Given the description of an element on the screen output the (x, y) to click on. 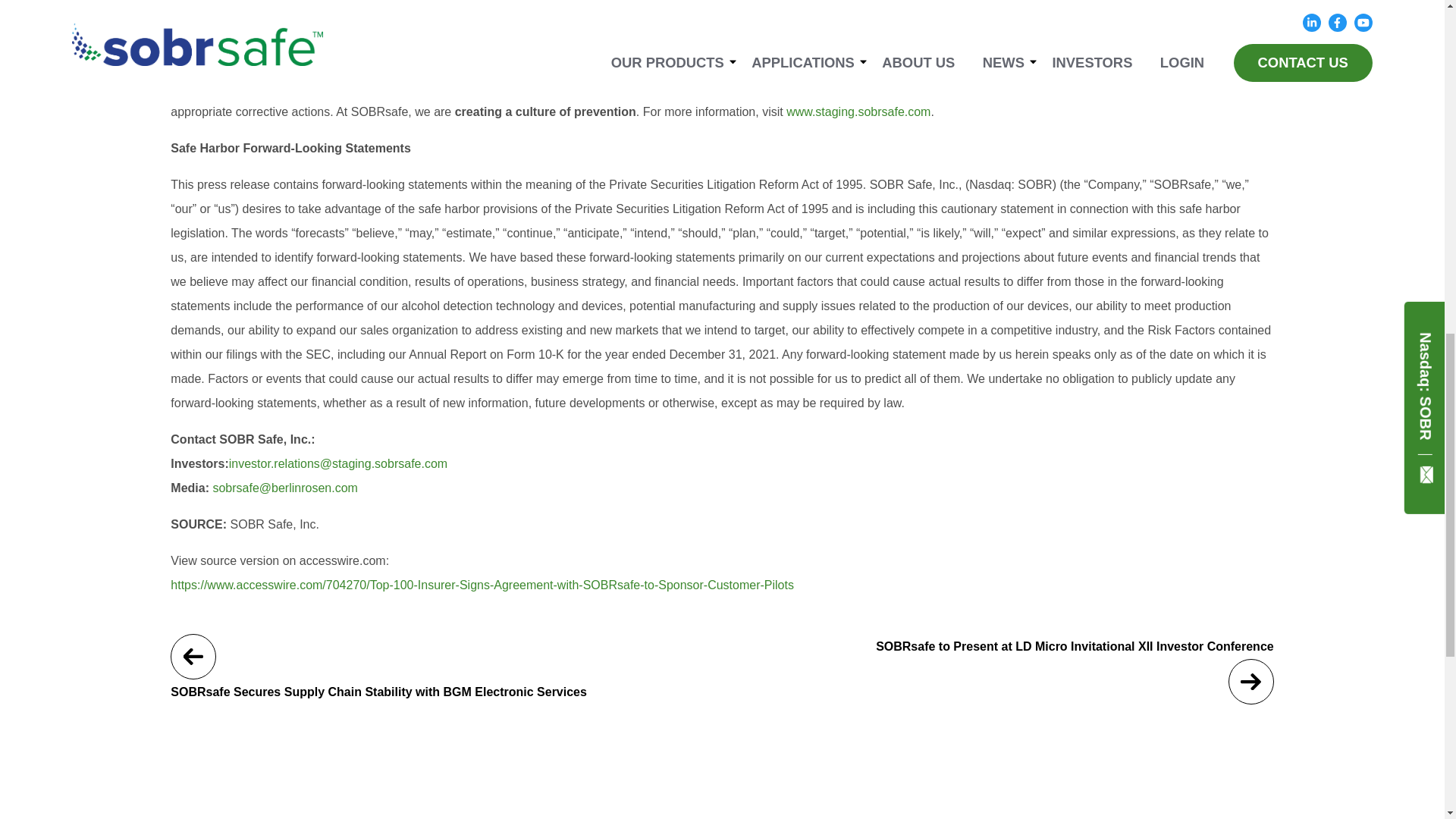
www.staging.sobrsafe.com (858, 111)
